Given the description of an element on the screen output the (x, y) to click on. 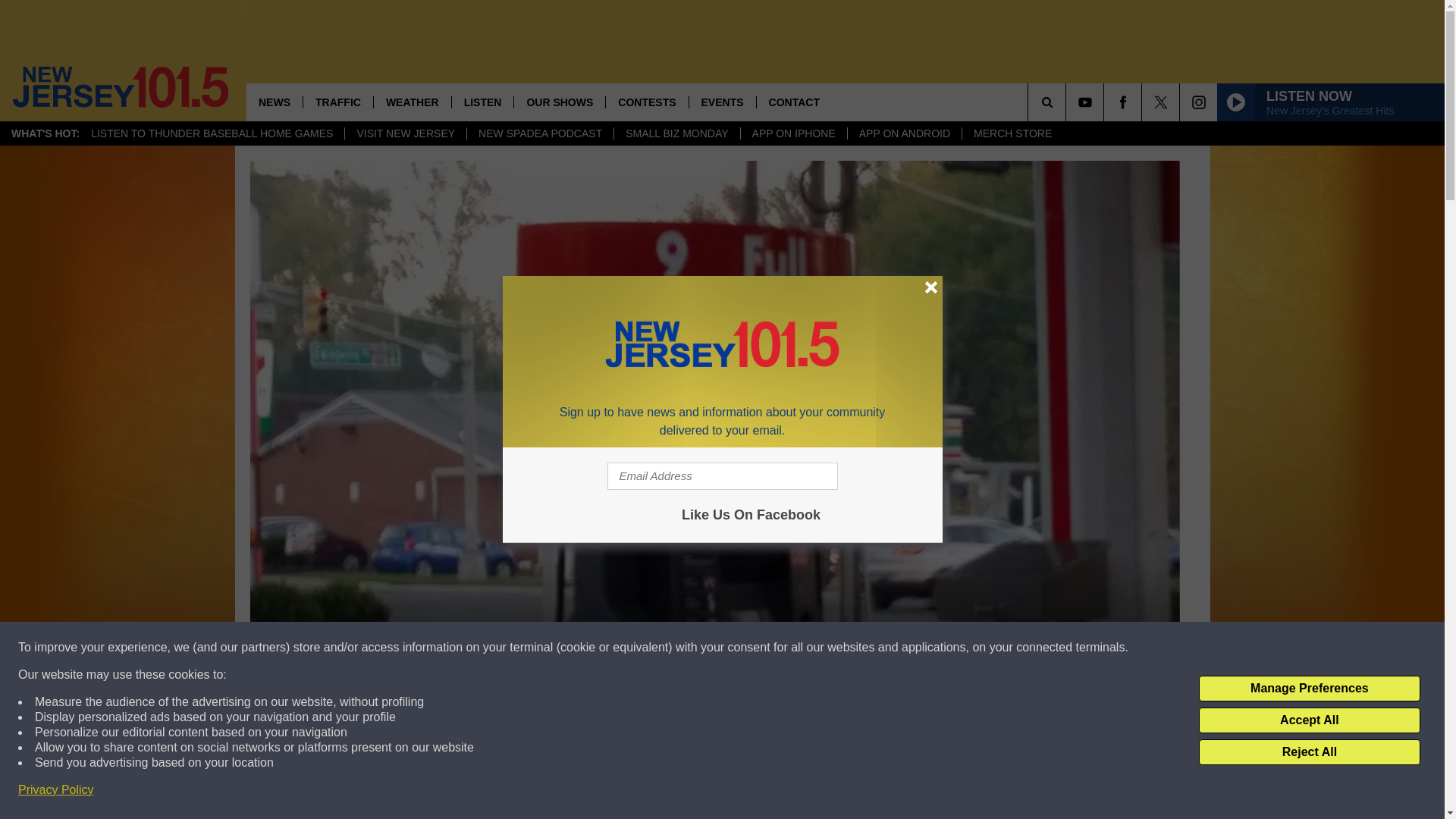
NEW SPADEA PODCAST (538, 133)
NEWS (274, 102)
VISIT NEW JERSEY (404, 133)
MERCH STORE (1011, 133)
Privacy Policy (55, 789)
Accept All (1309, 720)
LISTEN (482, 102)
APP ON IPHONE (793, 133)
SMALL BIZ MONDAY (675, 133)
Reject All (1309, 751)
Share on Twitter (912, 791)
APP ON ANDROID (903, 133)
WEATHER (411, 102)
TRAFFIC (337, 102)
Manage Preferences (1309, 688)
